Given the description of an element on the screen output the (x, y) to click on. 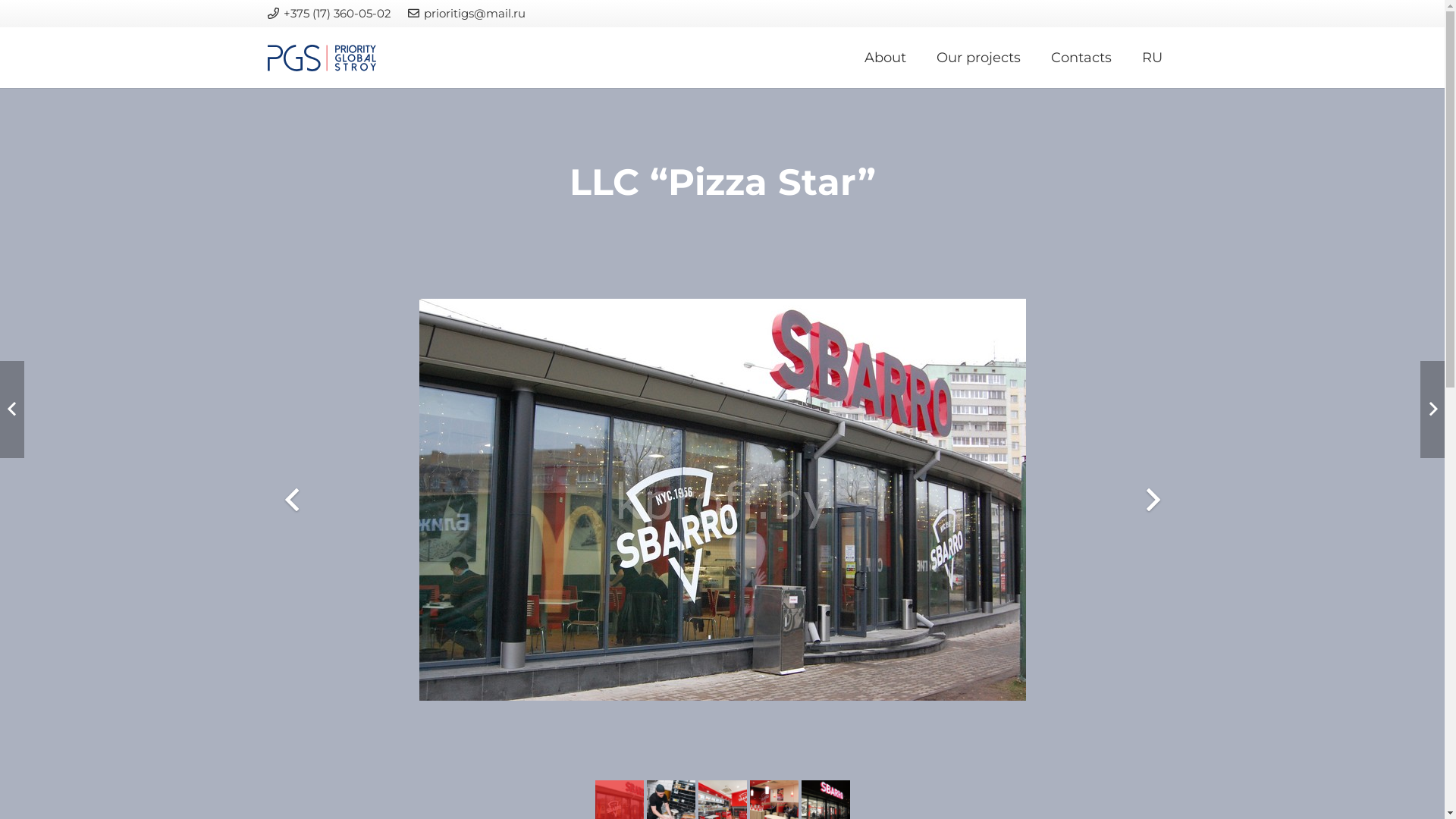
About Element type: text (885, 57)
Our projects Element type: text (977, 57)
+375 (17) 360-05-02 Element type: text (328, 13)
Contacts Element type: text (1080, 57)
prioritigs@mail.ru Element type: text (466, 13)
RU Element type: text (1151, 57)
